Given the description of an element on the screen output the (x, y) to click on. 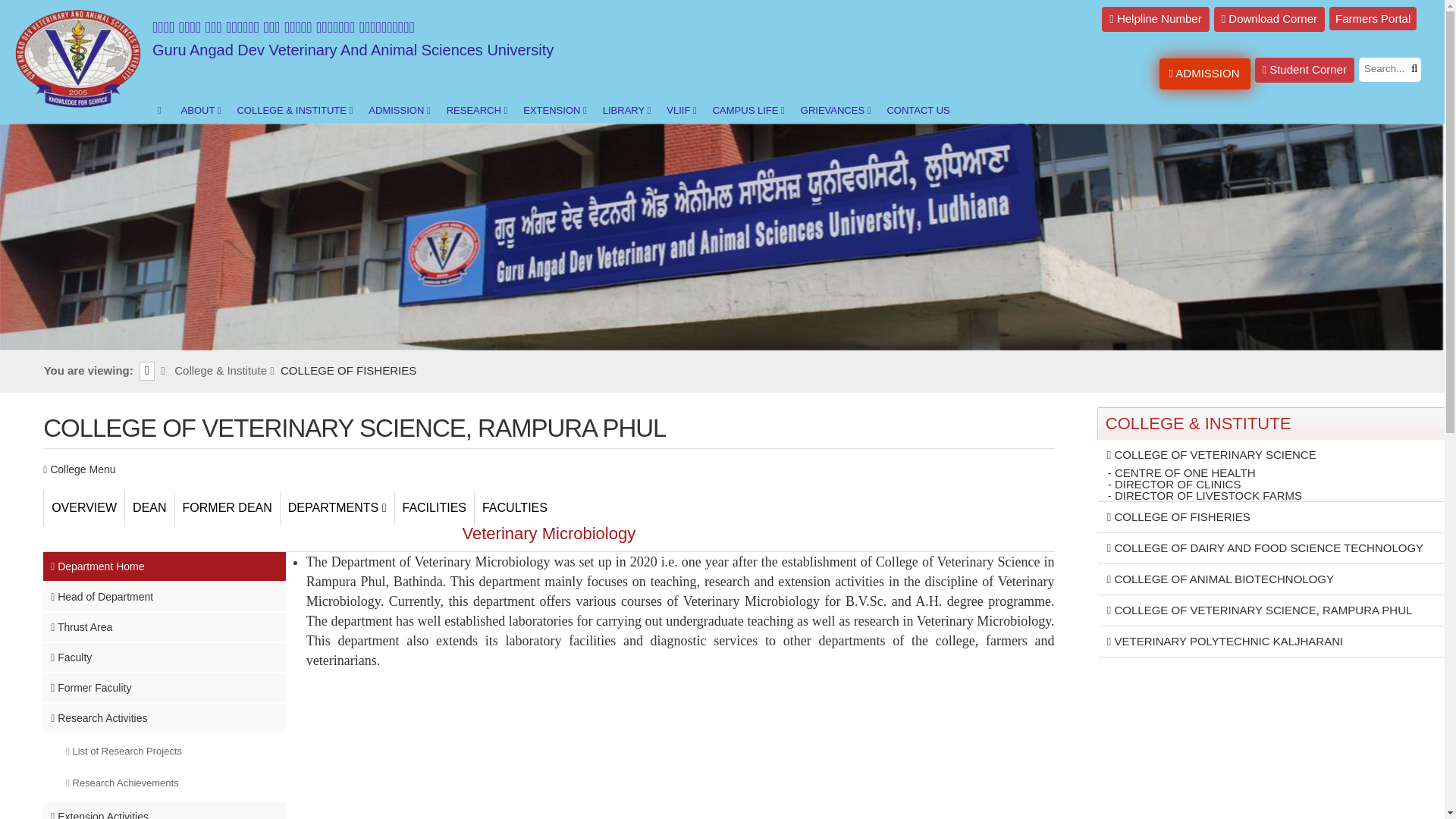
 ADMISSION (1203, 73)
Farmers Portal (1372, 18)
Helpline Number (1155, 18)
ABOUT (198, 110)
Download Corner (1269, 18)
Student Corner (1304, 69)
